Given the description of an element on the screen output the (x, y) to click on. 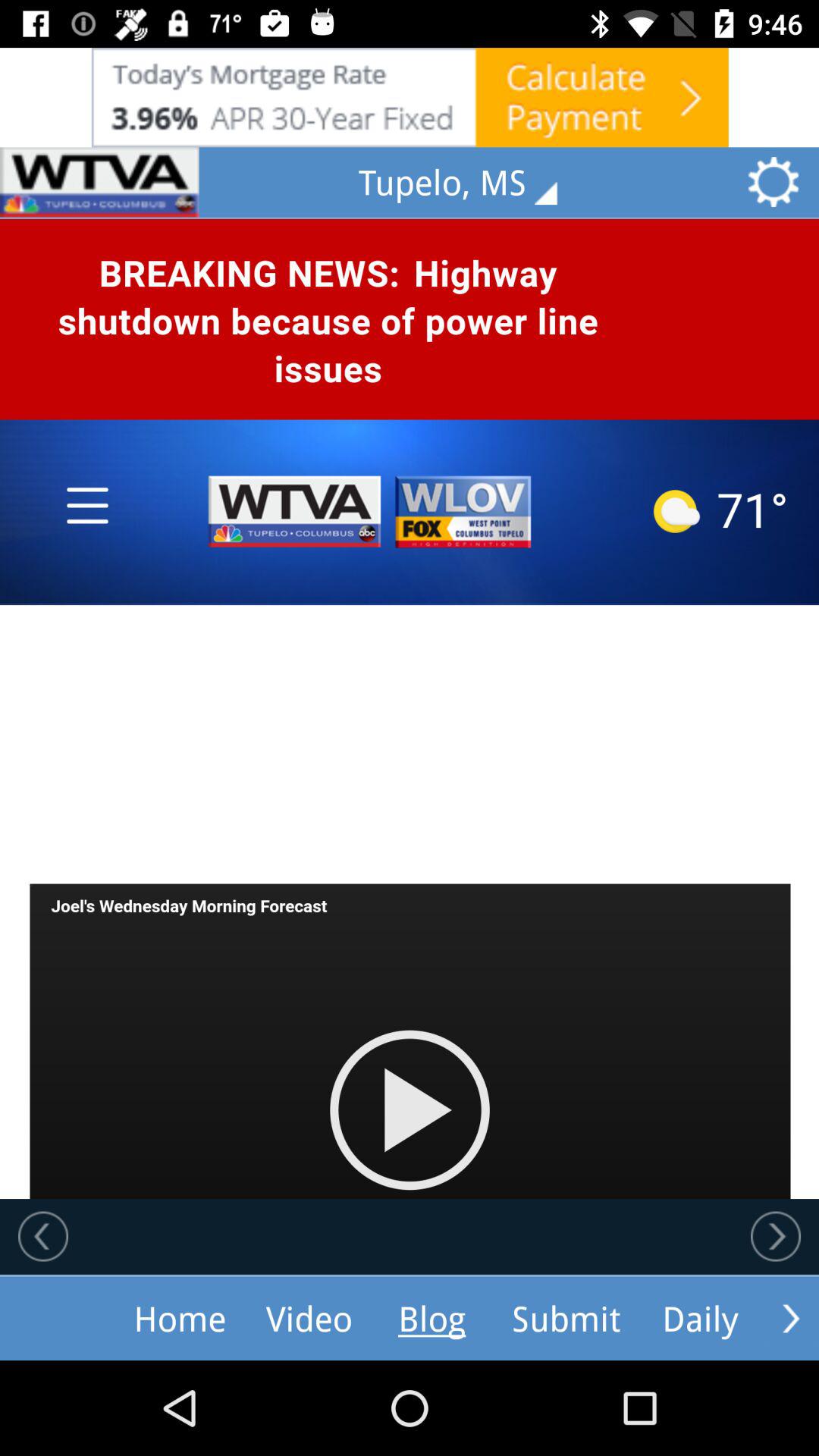
next page (775, 1236)
